Given the description of an element on the screen output the (x, y) to click on. 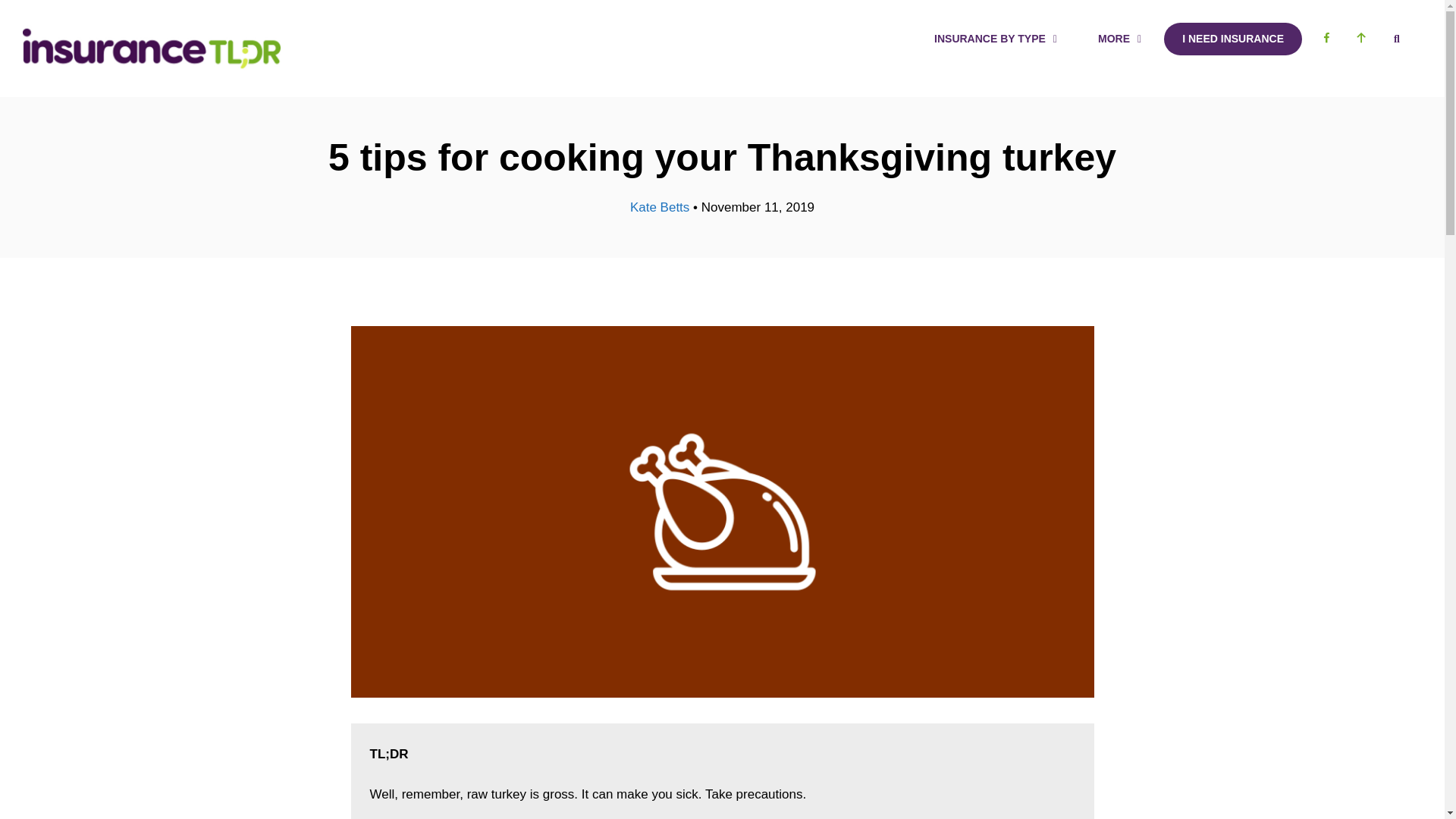
SEARCH (1396, 38)
Search (1396, 38)
MORE (1121, 38)
INSURANCE BY TYPE (997, 38)
I NEED INSURANCE (1232, 38)
Insurance TL;DR (152, 47)
Insurance TL;DR (152, 48)
Kate Betts (659, 206)
View all posts by Kate Betts (659, 206)
FACEBOOK (1326, 38)
